Given the description of an element on the screen output the (x, y) to click on. 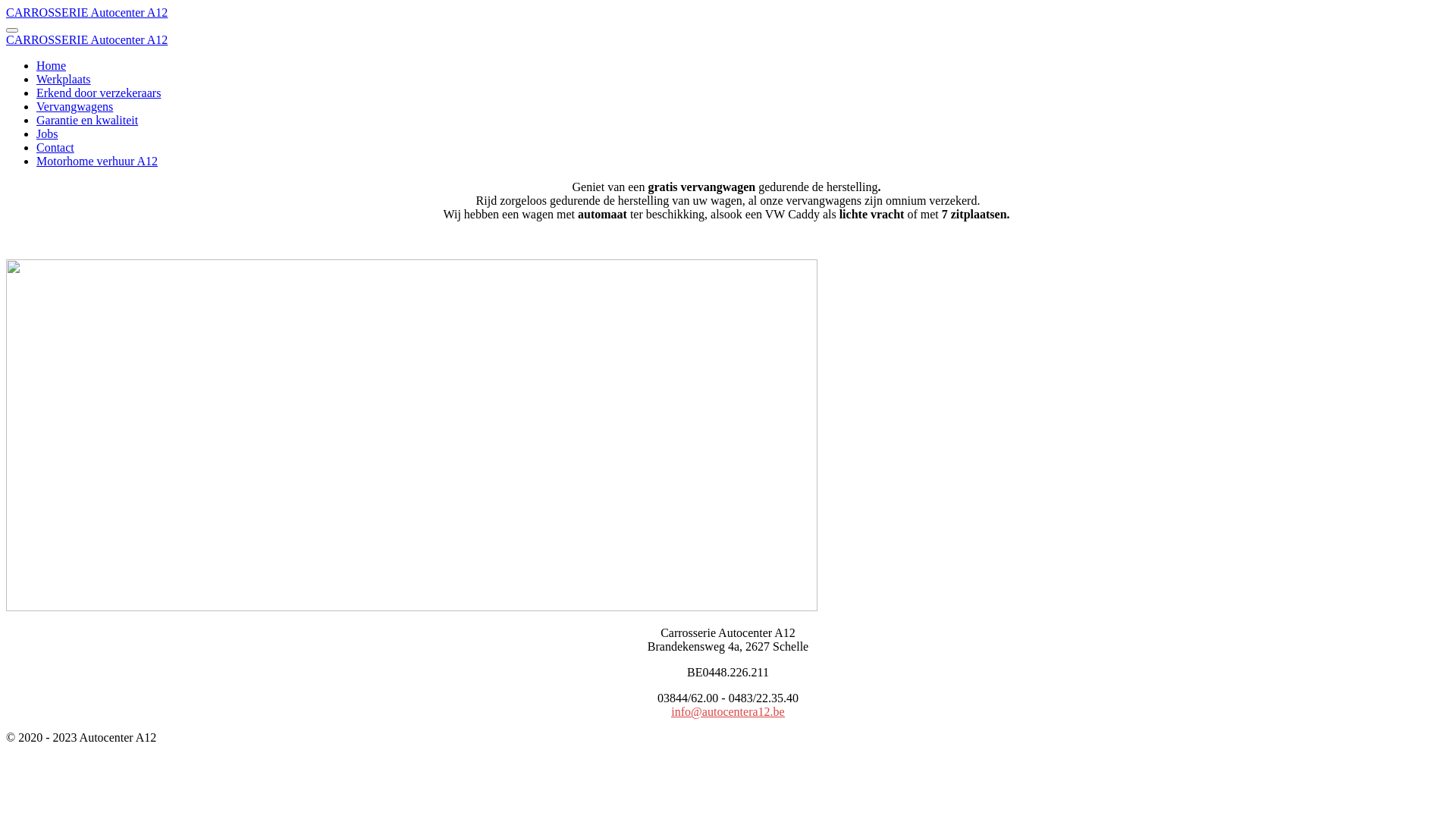
CARROSSERIE Autocenter A12 Element type: text (86, 39)
Erkend door verzekeraars Element type: text (98, 92)
Jobs Element type: text (46, 133)
Home Element type: text (50, 65)
Werkplaats Element type: text (63, 78)
Garantie en kwaliteit Element type: text (87, 119)
Contact Element type: text (55, 147)
Motorhome verhuur A12 Element type: text (96, 160)
CARROSSERIE Autocenter A12 Element type: text (86, 12)
Vervangwagens Element type: text (74, 106)
